Given the description of an element on the screen output the (x, y) to click on. 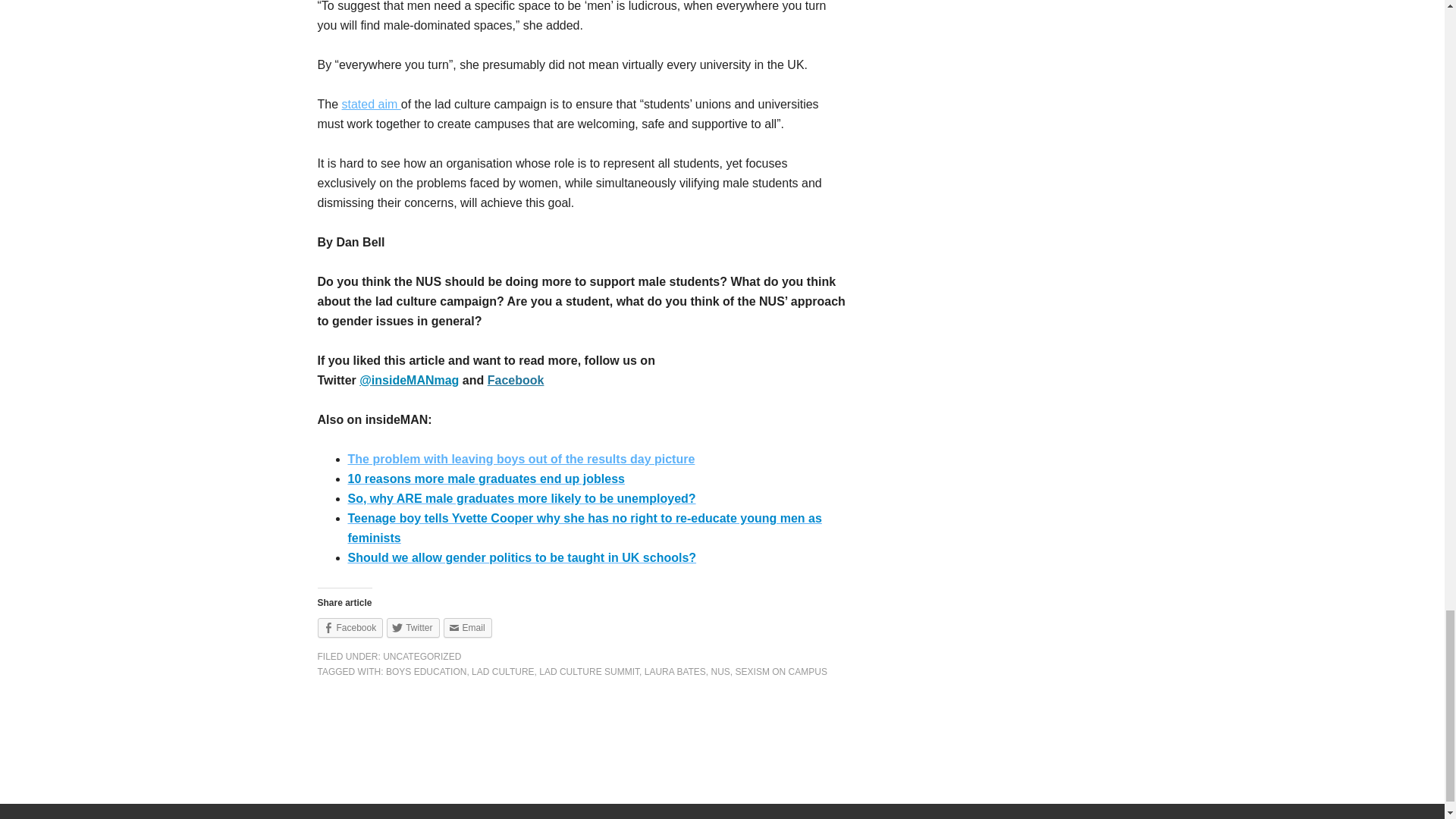
Facebook (515, 379)
Click to share on Facebook (349, 628)
LAD CULTURE (502, 671)
SEXISM ON CAMPUS (781, 671)
Click to email this to a friend (468, 628)
UNCATEGORIZED (421, 656)
10 reasons more male graduates end up jobless (485, 478)
Twitter (413, 628)
Click to share on Twitter (413, 628)
LAD CULTURE SUMMIT (588, 671)
stated aim (371, 103)
BOYS EDUCATION (425, 671)
Should we allow gender politics to be taught in UK schools? (521, 557)
So, why ARE male graduates more likely to be unemployed? (521, 498)
Email (468, 628)
